Given the description of an element on the screen output the (x, y) to click on. 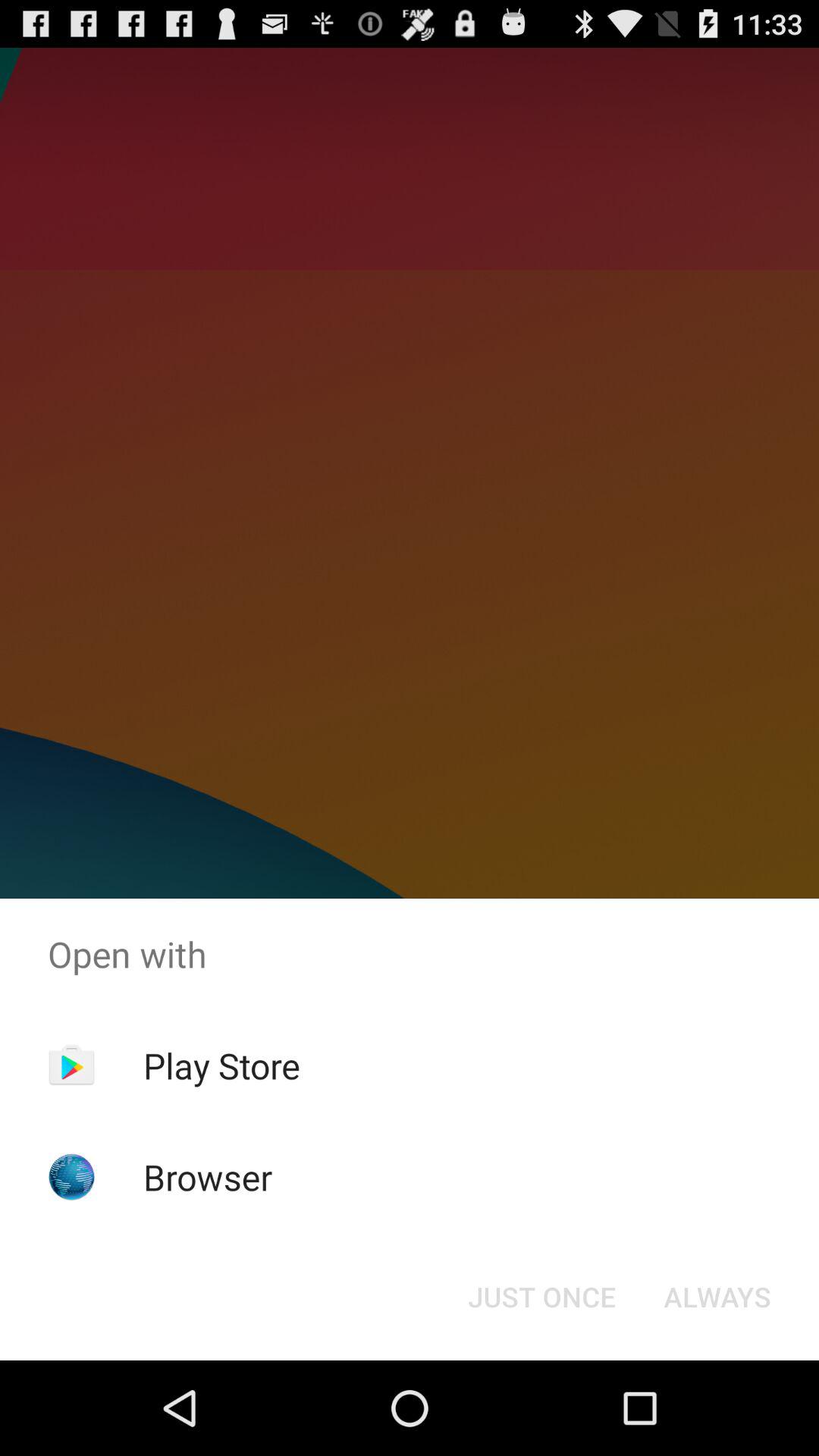
open icon next to just once item (717, 1296)
